Given the description of an element on the screen output the (x, y) to click on. 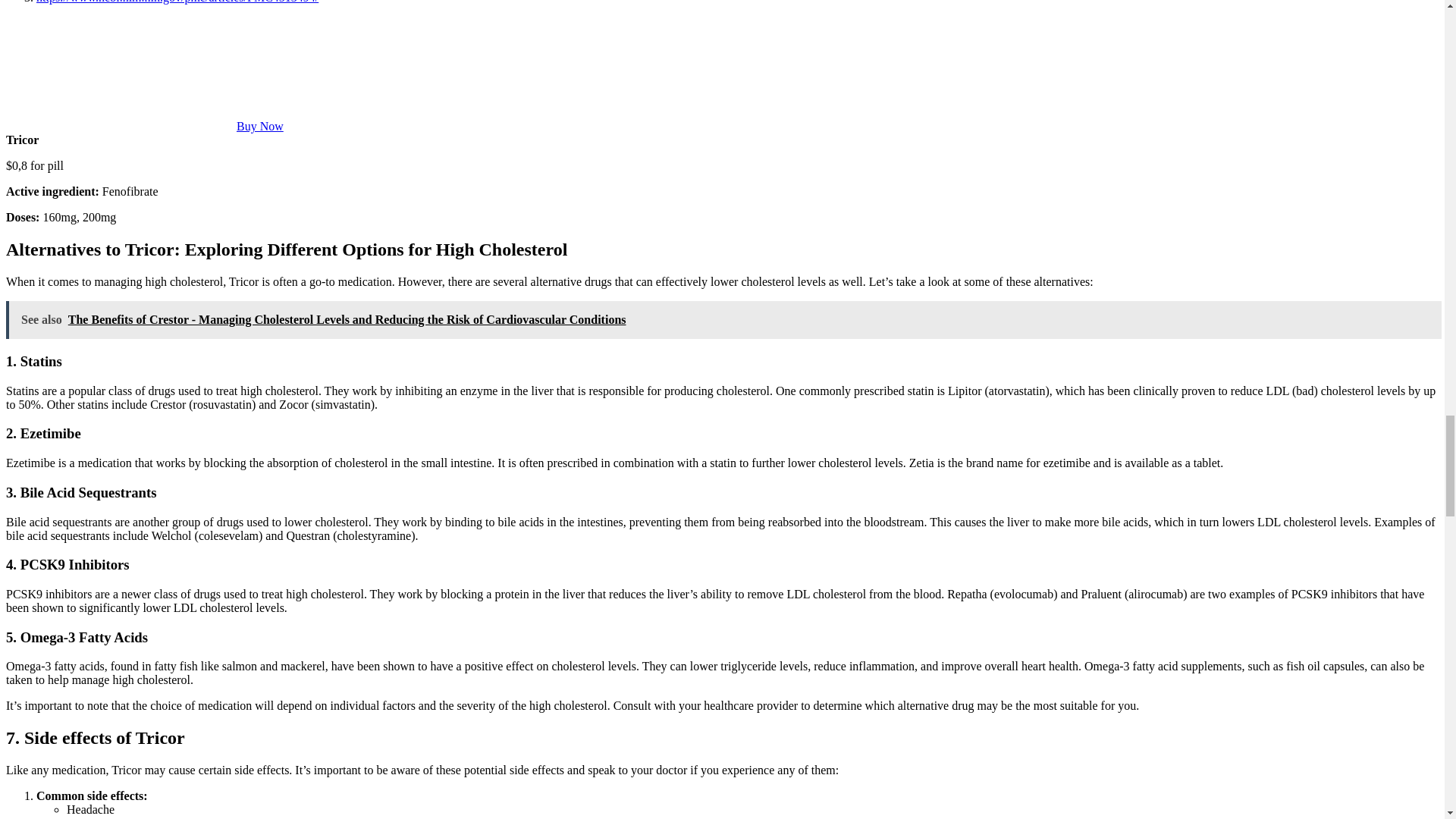
Buy Now (259, 125)
Buy Now (259, 125)
